Given the description of an element on the screen output the (x, y) to click on. 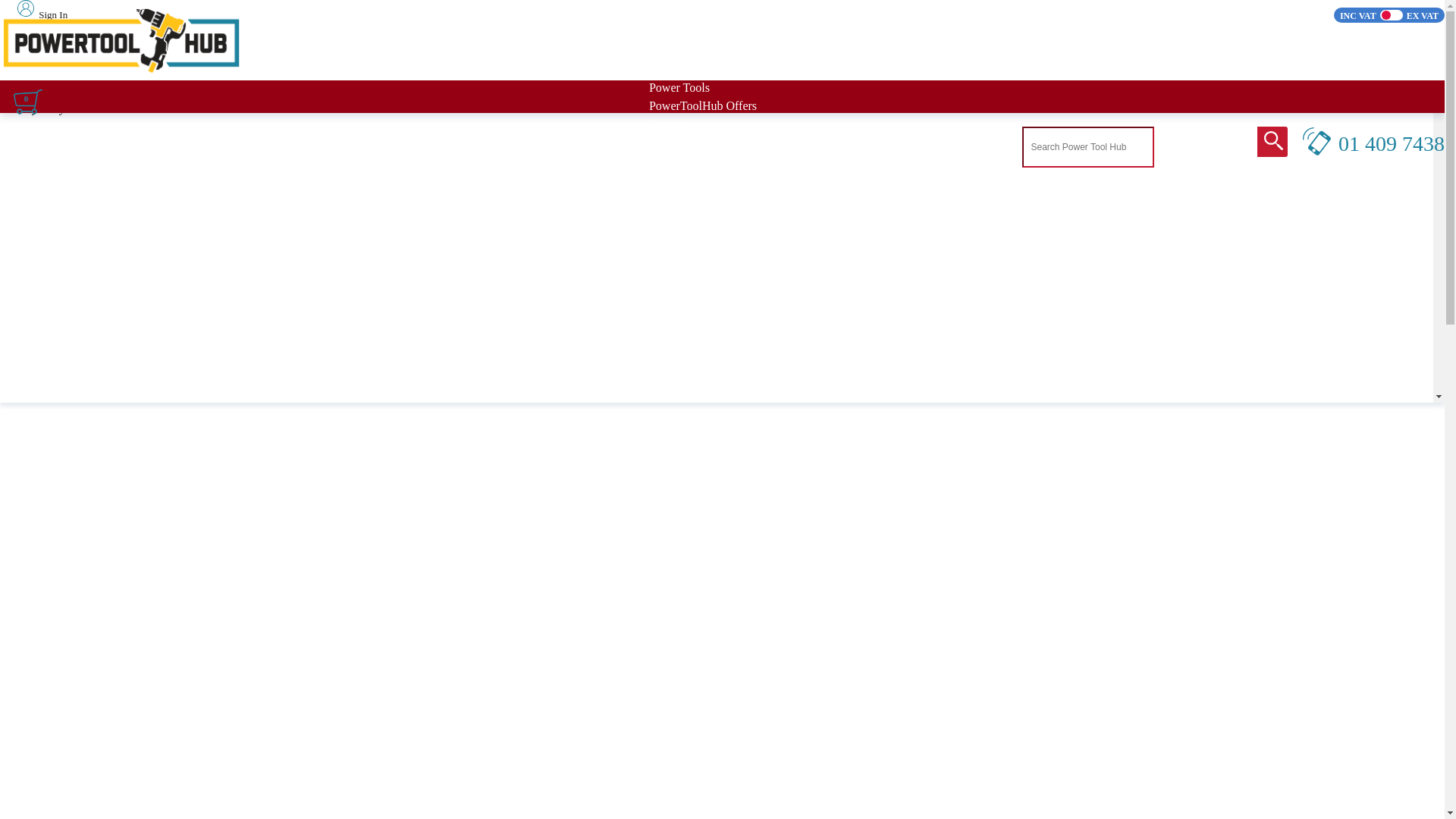
0 (26, 112)
Sign In (36, 14)
Dewalt 100 Day Redemption (719, 49)
Power Tools (679, 86)
Home (663, 31)
Body Only Tools (690, 67)
